Given the description of an element on the screen output the (x, y) to click on. 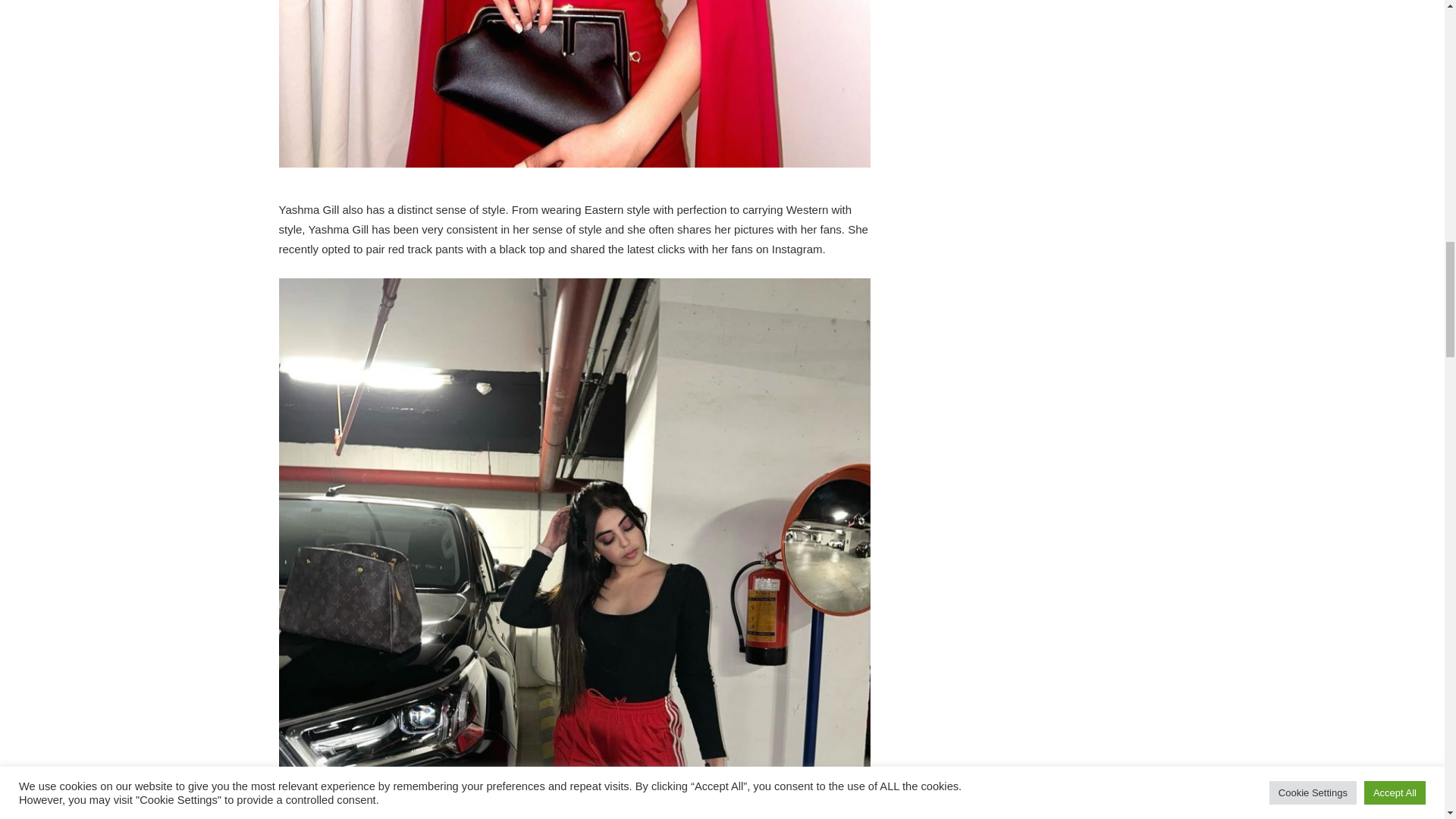
Netizens Unimpressed By Yashma Gill's Dressing (574, 83)
